Given the description of an element on the screen output the (x, y) to click on. 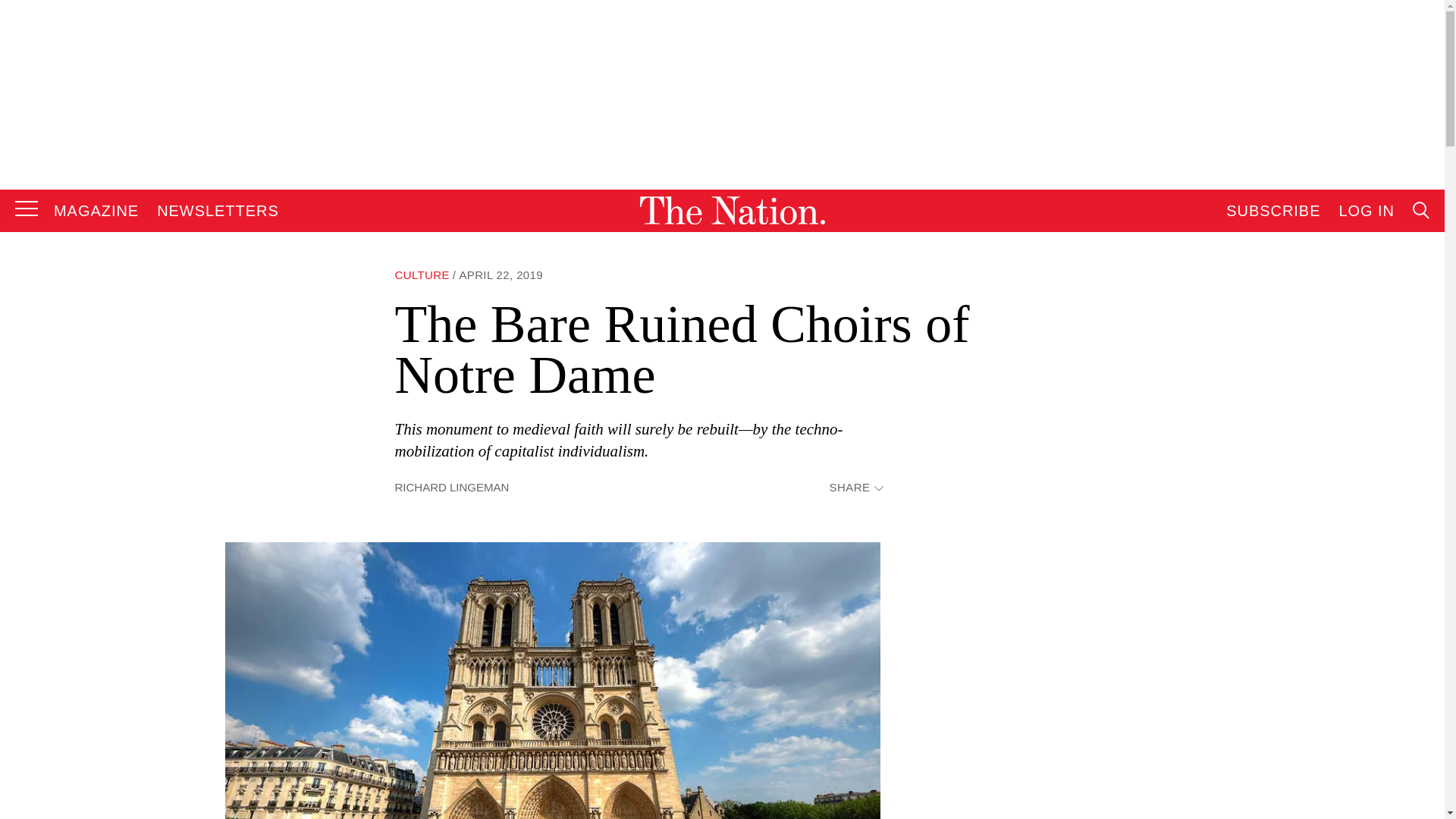
SHARE (855, 487)
Search (1278, 364)
RICHARD LINGEMAN (451, 486)
LOG IN (1366, 210)
SUBSCRIBE (1272, 210)
MAGAZINE (95, 210)
CULTURE (421, 274)
NEWSLETTERS (218, 210)
